Given the description of an element on the screen output the (x, y) to click on. 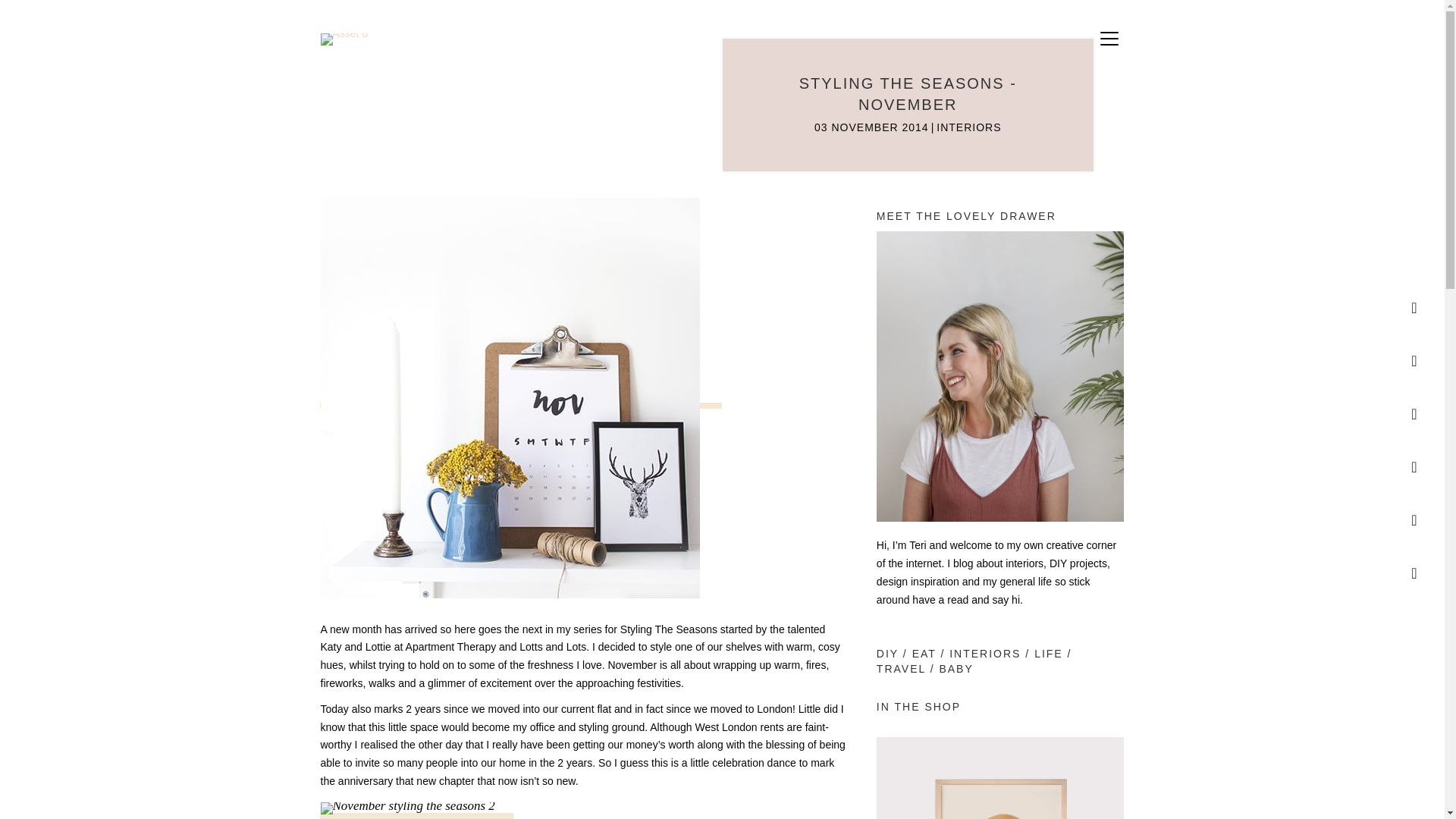
TRAVEL (901, 668)
Custom Icon (1414, 360)
Custom Icon (1414, 572)
Twitter (1414, 520)
Custom Icon (1414, 413)
EAT (924, 653)
Custom Icon (1414, 467)
DIY (887, 653)
Asset 8 (344, 39)
Custom Icon (1414, 307)
